Given the description of an element on the screen output the (x, y) to click on. 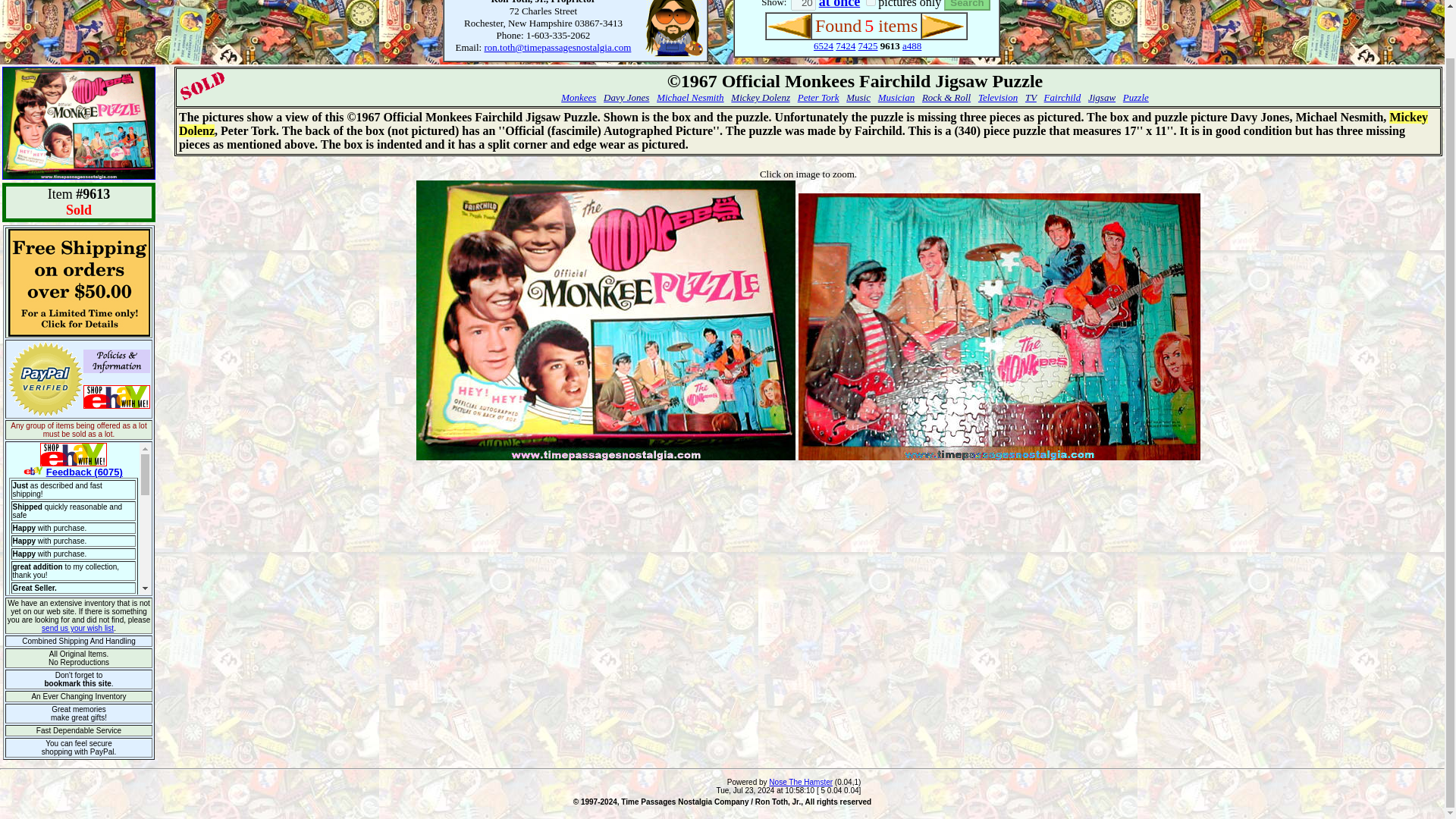
Recent Feedback (79, 518)
Mickey Dolenz (760, 97)
Click on image to zoom. (808, 173)
TV (1030, 97)
previous page (788, 25)
Search (966, 5)
Jigsaw (1101, 97)
This item is already sold (202, 86)
1 (871, 2)
Musician (895, 97)
Peter Tork (818, 97)
Music (857, 97)
a488 (911, 45)
Television (997, 97)
6524 (822, 45)
